Given the description of an element on the screen output the (x, y) to click on. 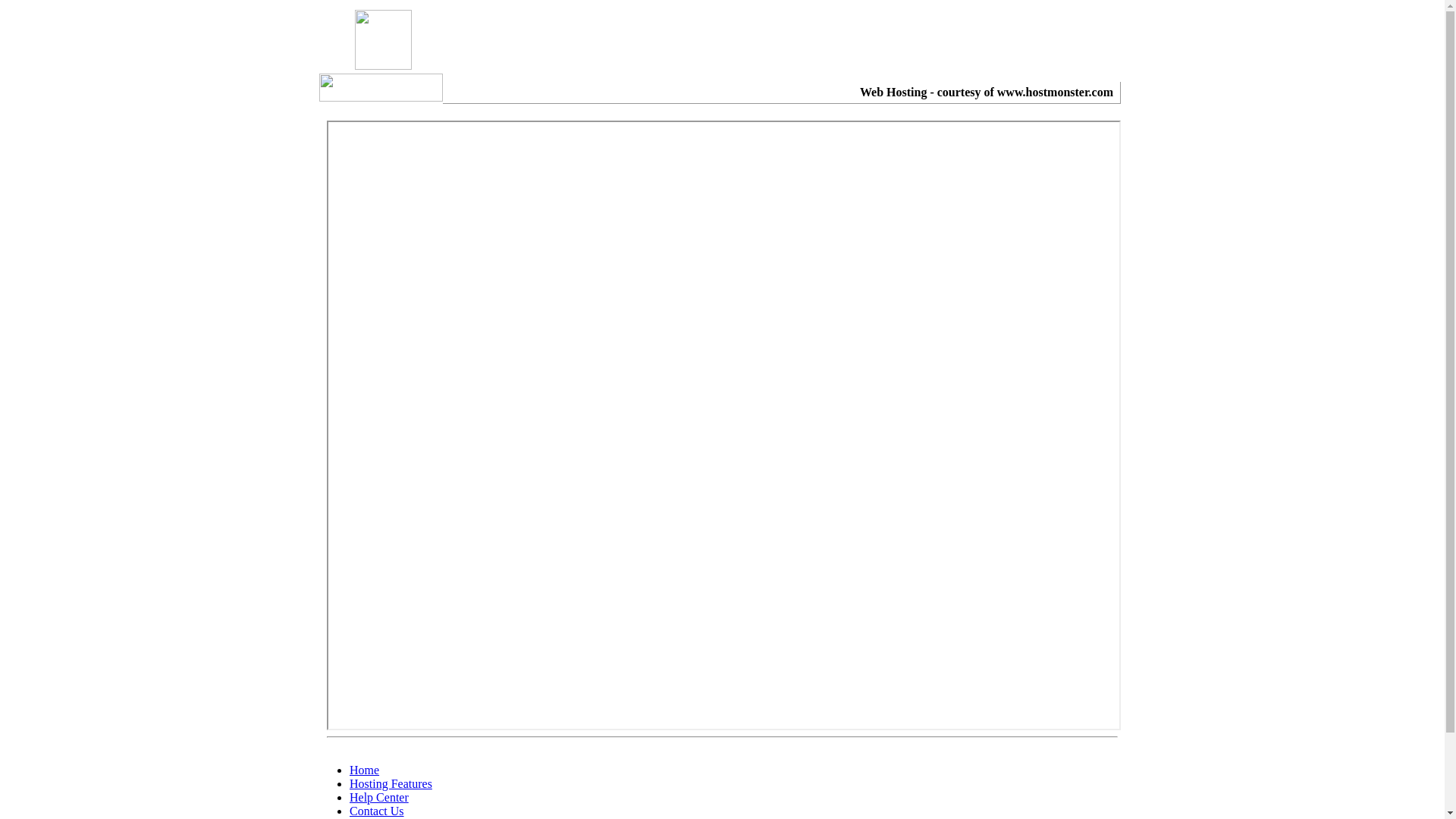
Hosting Features Element type: text (390, 783)
Home Element type: text (364, 769)
Contact Us Element type: text (376, 810)
Help Center Element type: text (378, 796)
Web Hosting - courtesy of www.hostmonster.com Element type: text (986, 91)
